Given the description of an element on the screen output the (x, y) to click on. 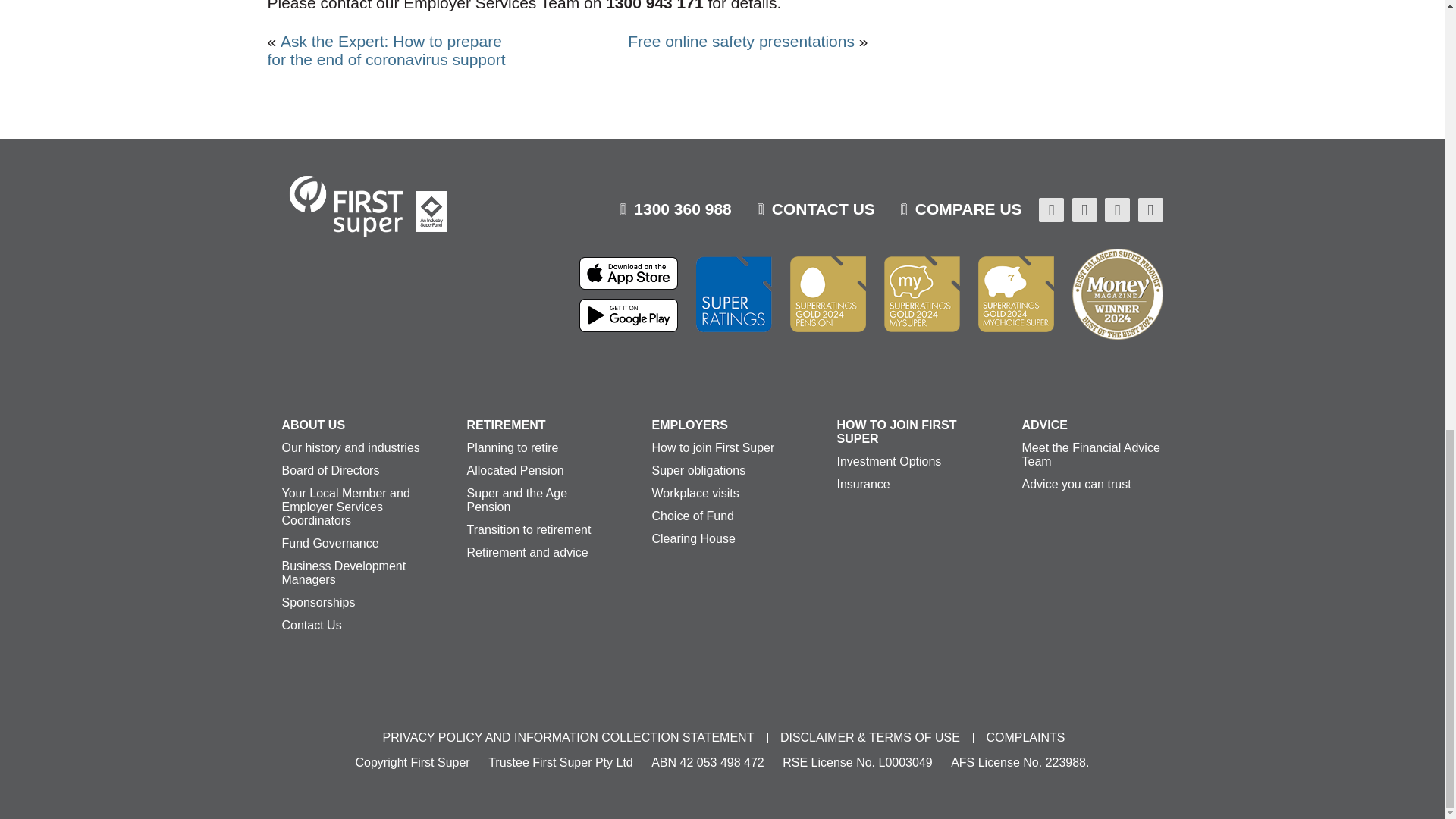
App Store (628, 277)
Best of the Best Awards 2023 (1117, 293)
SuperRatings Gold 2023 Pension (828, 294)
Google Play Badge (628, 318)
SuperRatings Gold 2023 MyChoiceSuper (1016, 294)
SuperRatings Gold 2023 MySuper (921, 294)
SuperRatings Disclosure (733, 294)
